Given the description of an element on the screen output the (x, y) to click on. 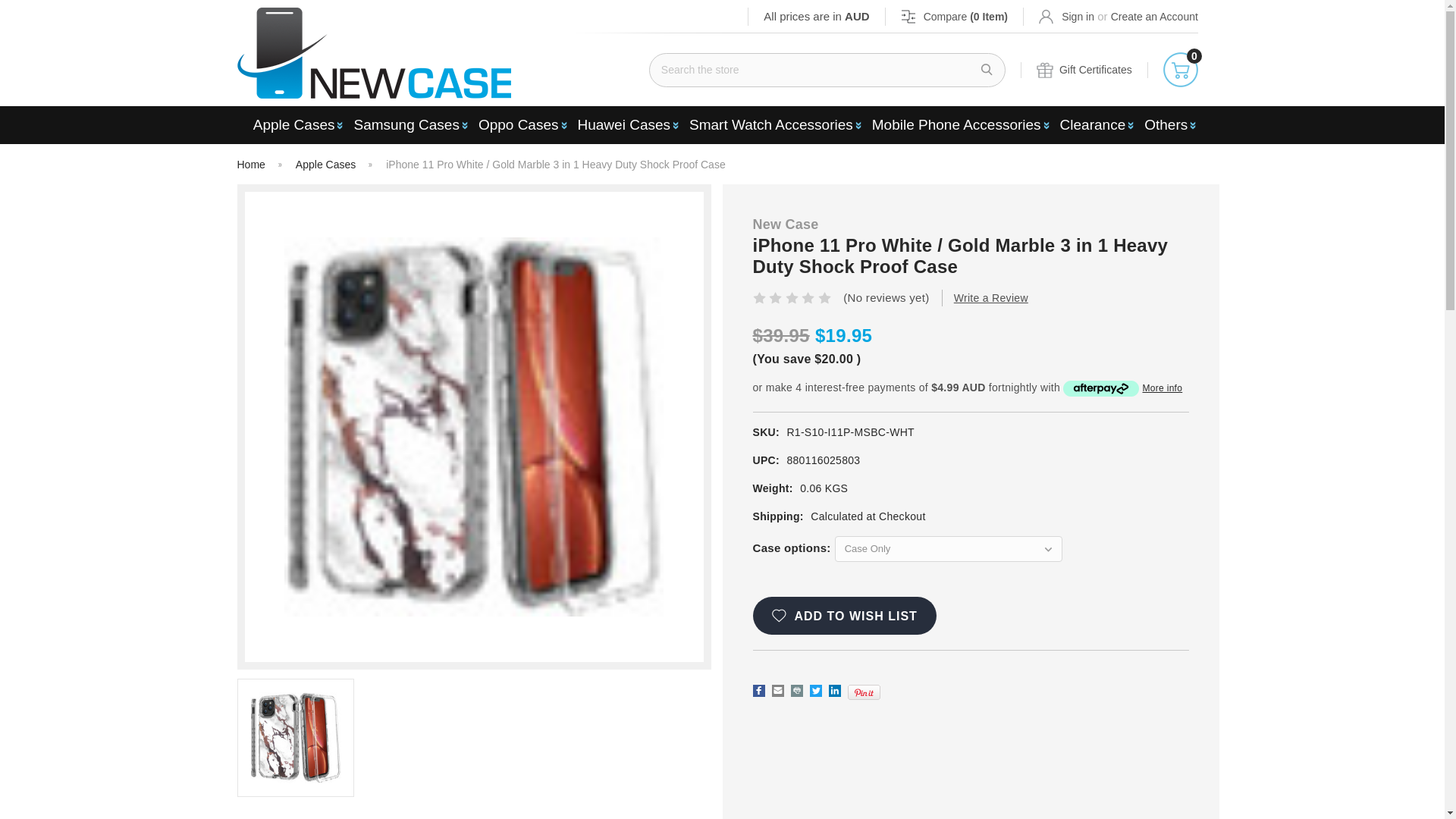
Create an Account (1154, 16)
Search (987, 69)
0 (1180, 69)
New Case (373, 52)
Gift Certificates (1084, 69)
Sign in (1066, 16)
Apple Cases (296, 125)
Search (987, 69)
